Given the description of an element on the screen output the (x, y) to click on. 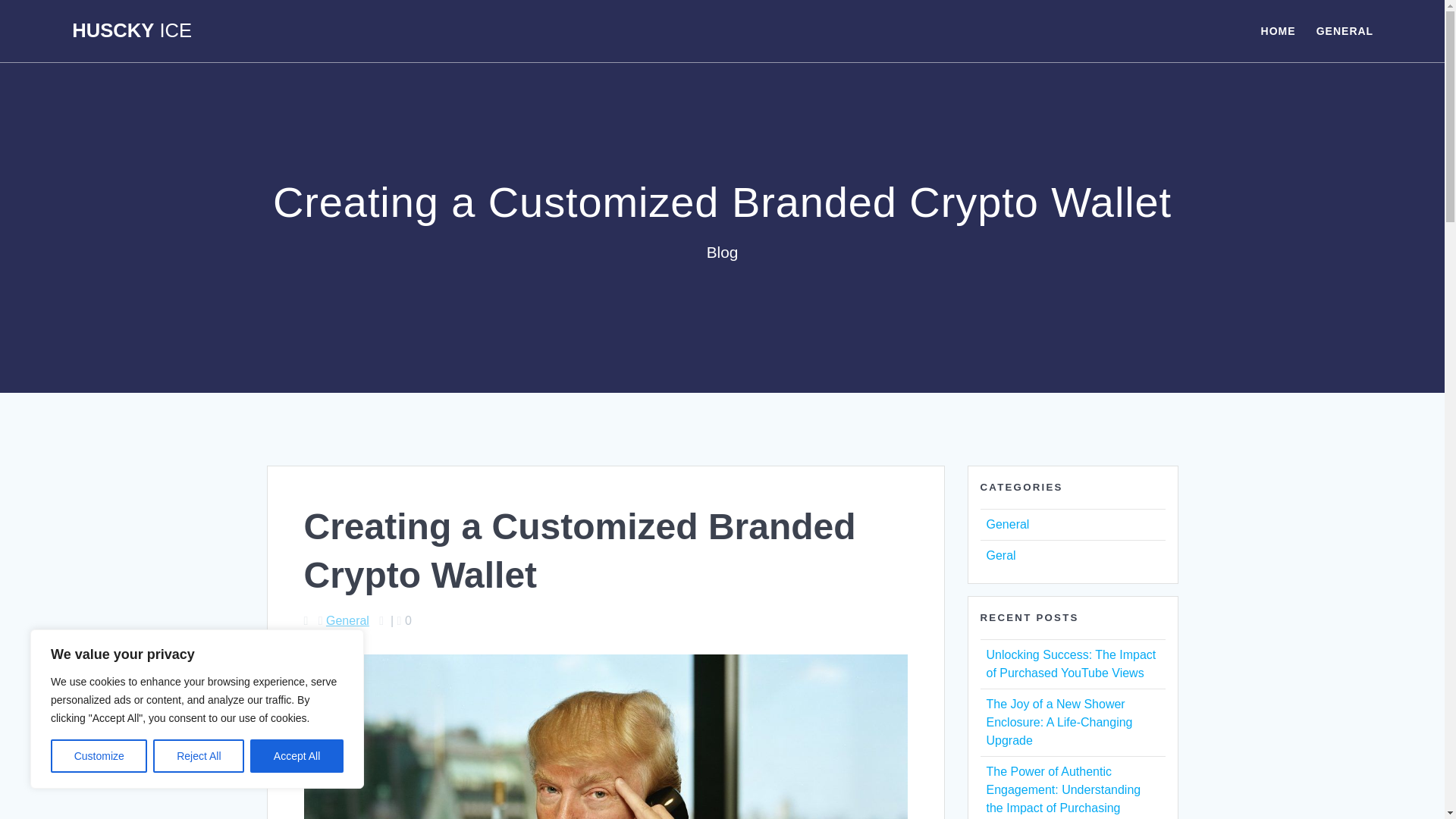
HOME (1277, 30)
Unlocking Success: The Impact of Purchased YouTube Views (1070, 663)
Customize (98, 756)
GENERAL (1344, 30)
HUSCKY ICE (131, 30)
Geral (999, 554)
The Joy of a New Shower Enclosure: A Life-Changing Upgrade (1058, 721)
Reject All (198, 756)
General (1007, 523)
General (347, 620)
Accept All (296, 756)
